Given the description of an element on the screen output the (x, y) to click on. 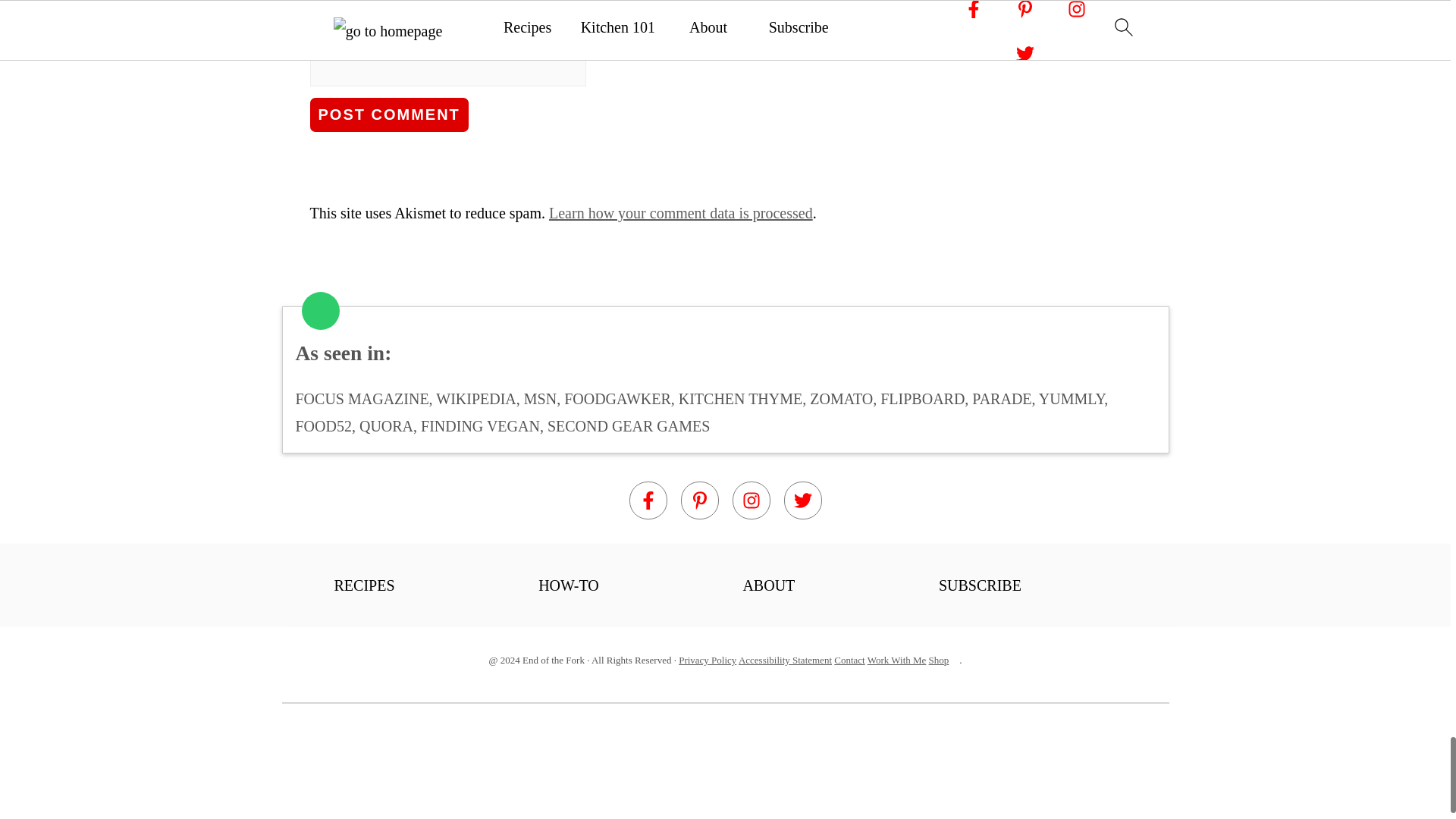
Post Comment (387, 114)
